Given the description of an element on the screen output the (x, y) to click on. 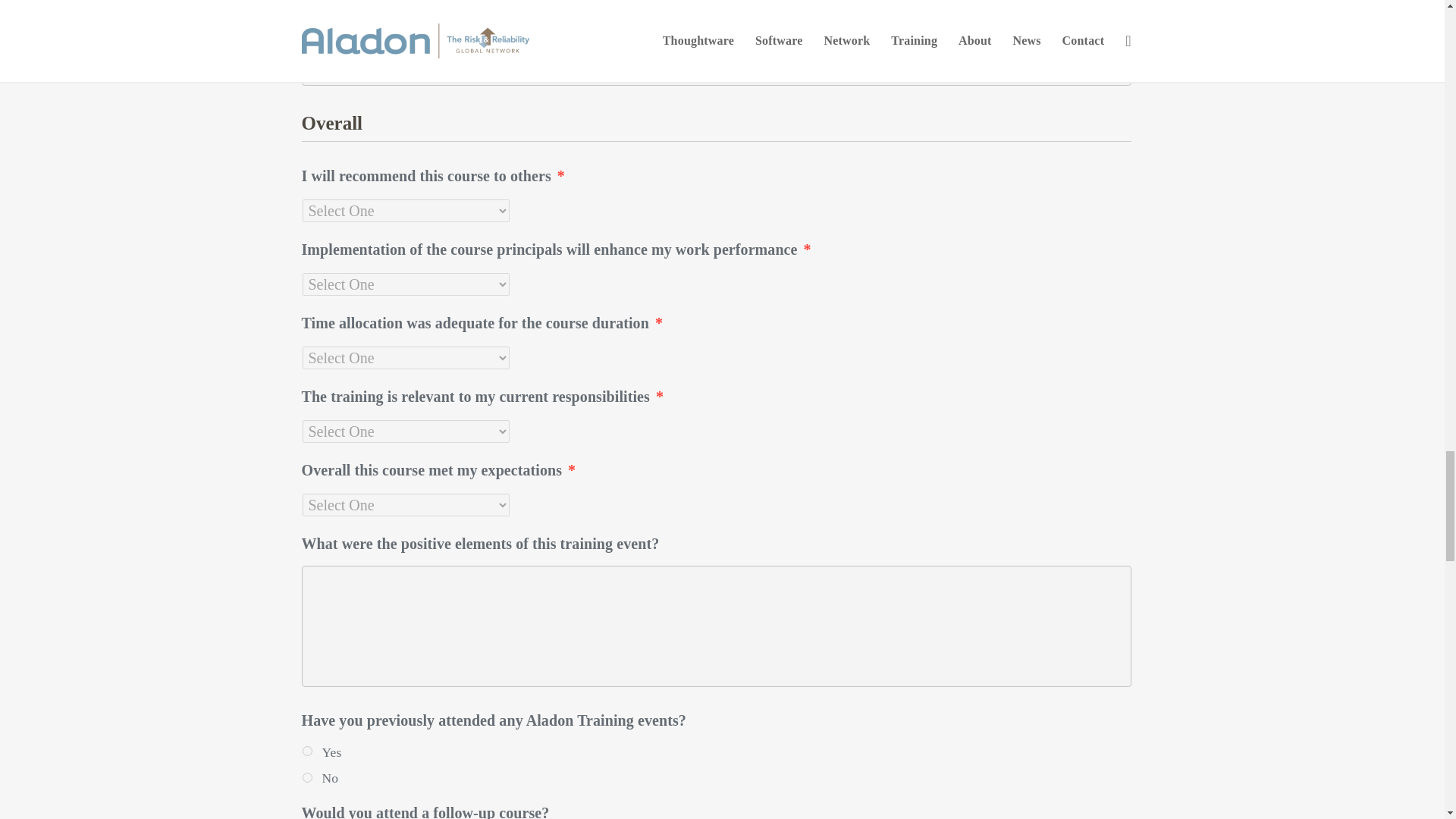
No (306, 777)
Yes (306, 750)
